Given the description of an element on the screen output the (x, y) to click on. 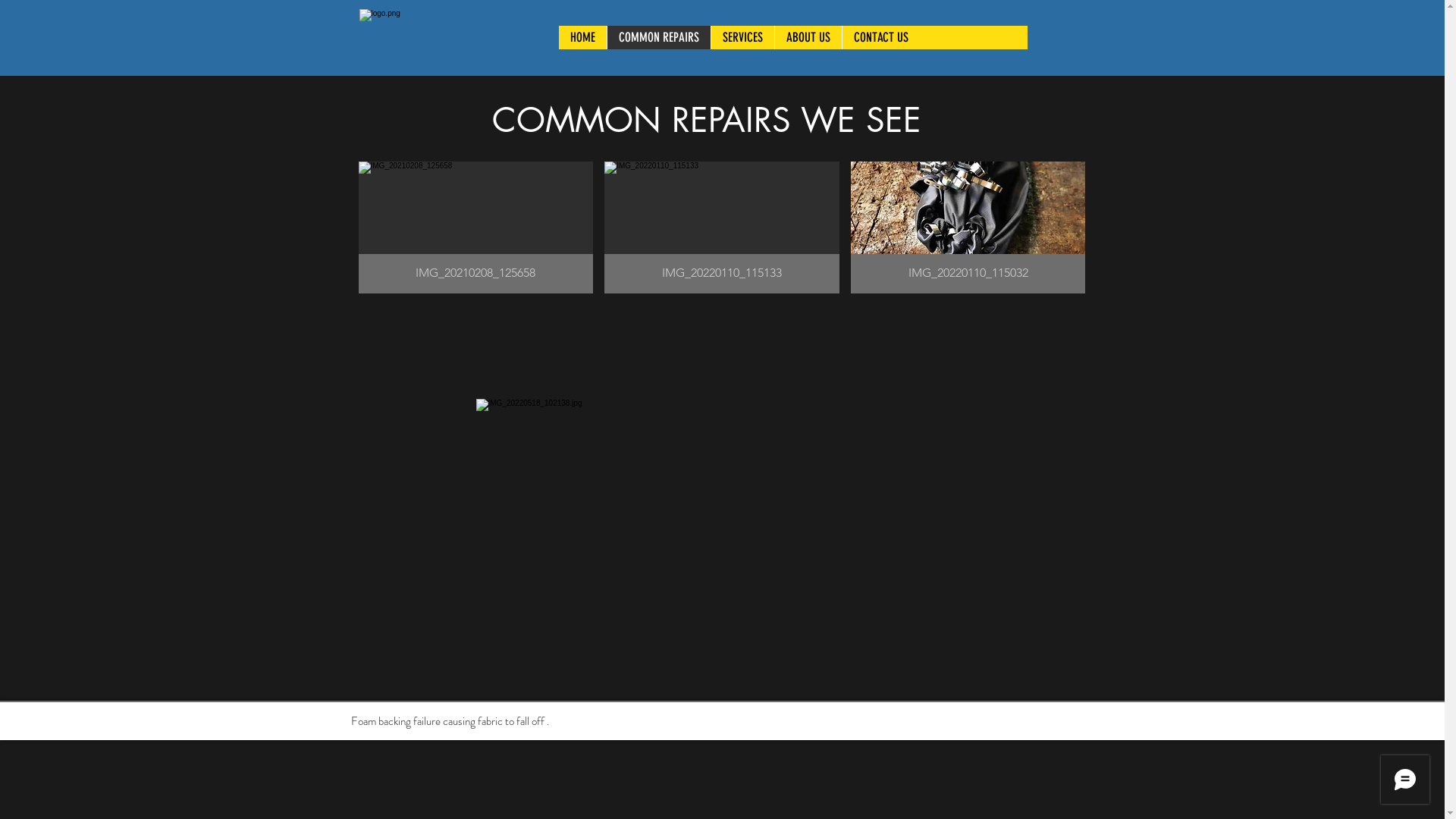
ABOUT US Element type: text (806, 37)
COMMON REPAIRS Element type: text (658, 37)
SERVICES Element type: text (741, 37)
CONTACT US Element type: text (880, 37)
HOME Element type: text (581, 37)
